Given the description of an element on the screen output the (x, y) to click on. 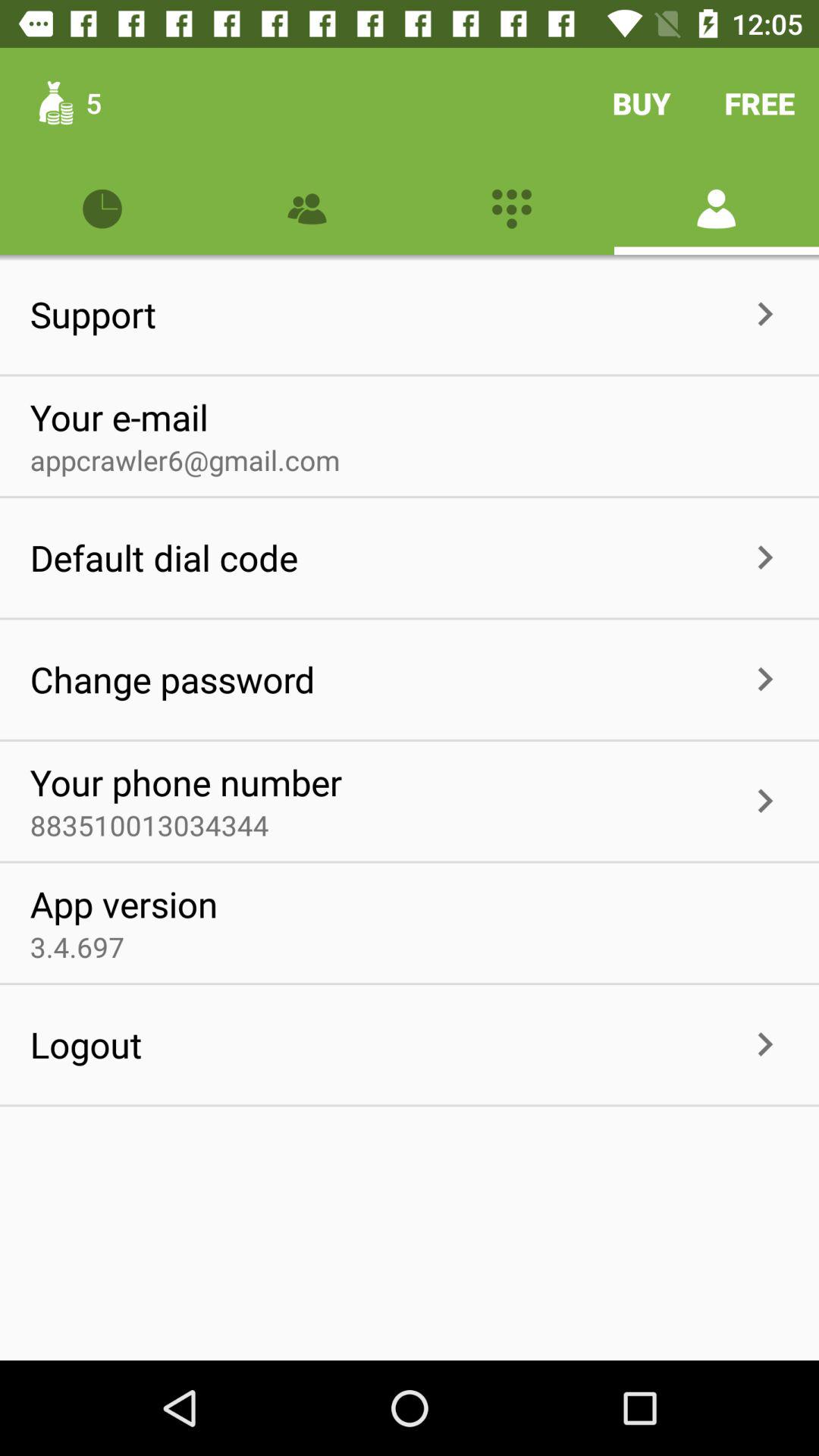
turn off item next to support icon (448, 314)
